Given the description of an element on the screen output the (x, y) to click on. 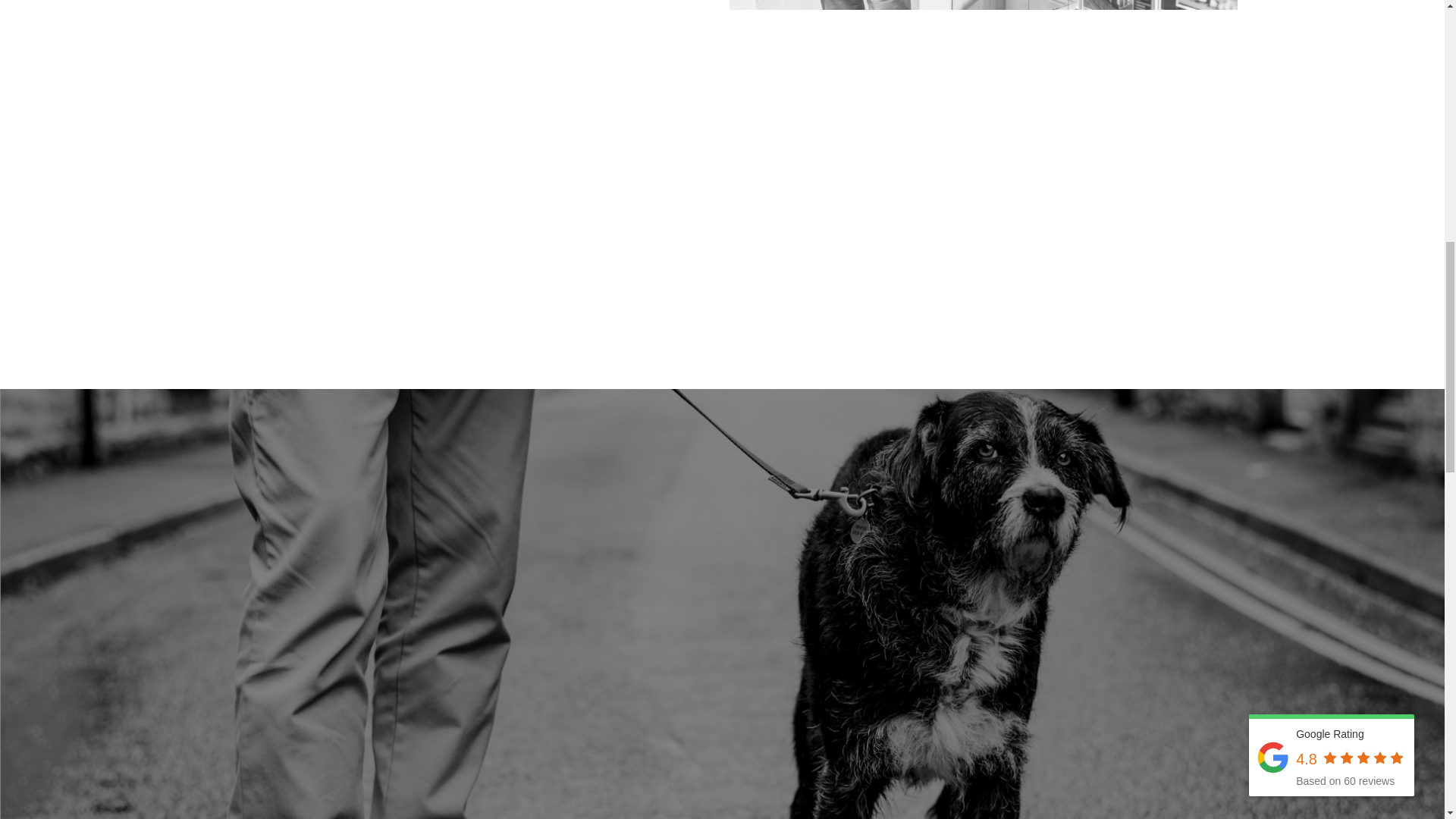
MurraysJan2023-Swiel-380 (983, 4)
